Given the description of an element on the screen output the (x, y) to click on. 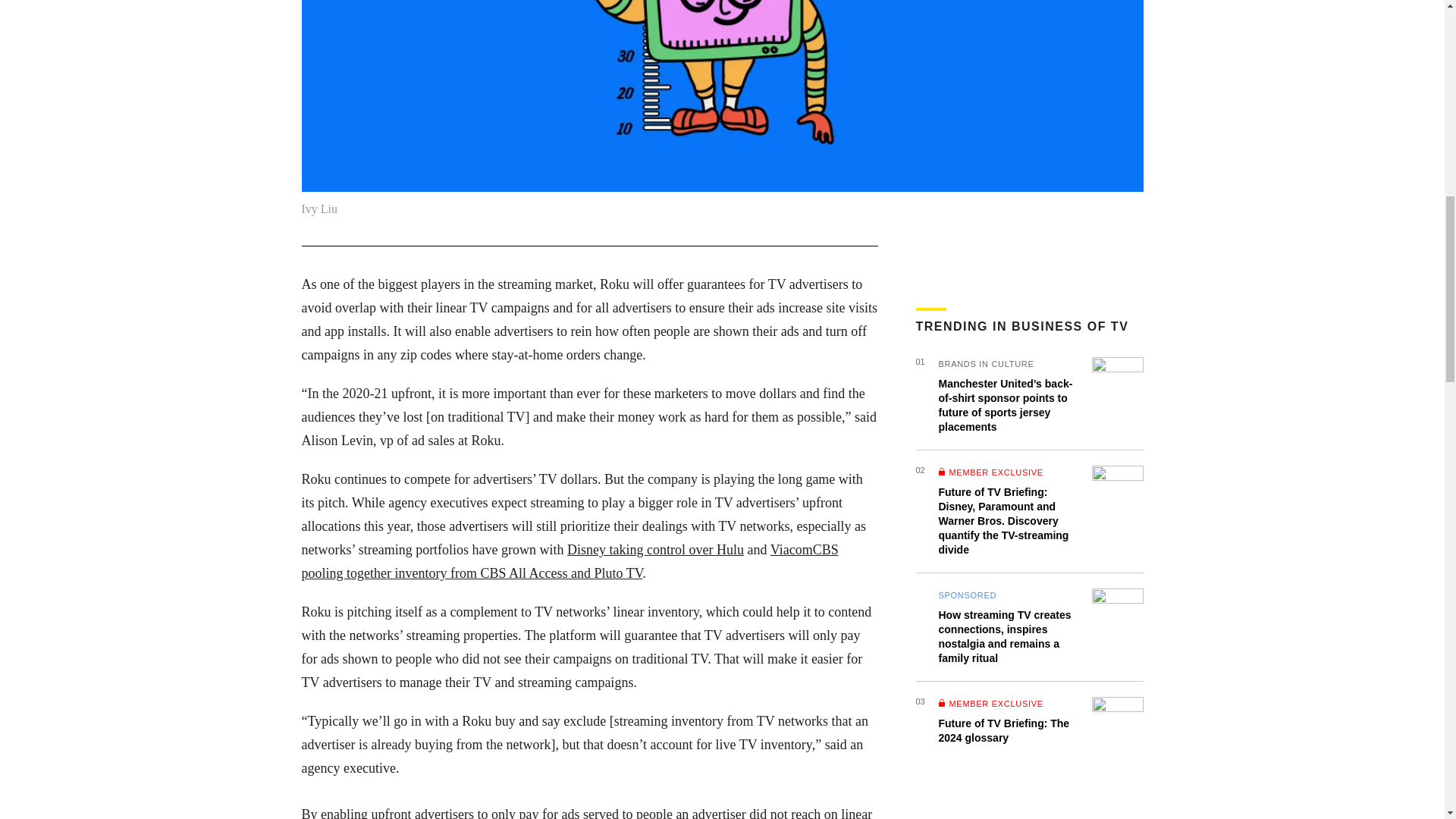
Future of TV Briefing: The 2024 glossary (1004, 730)
